Given the description of an element on the screen output the (x, y) to click on. 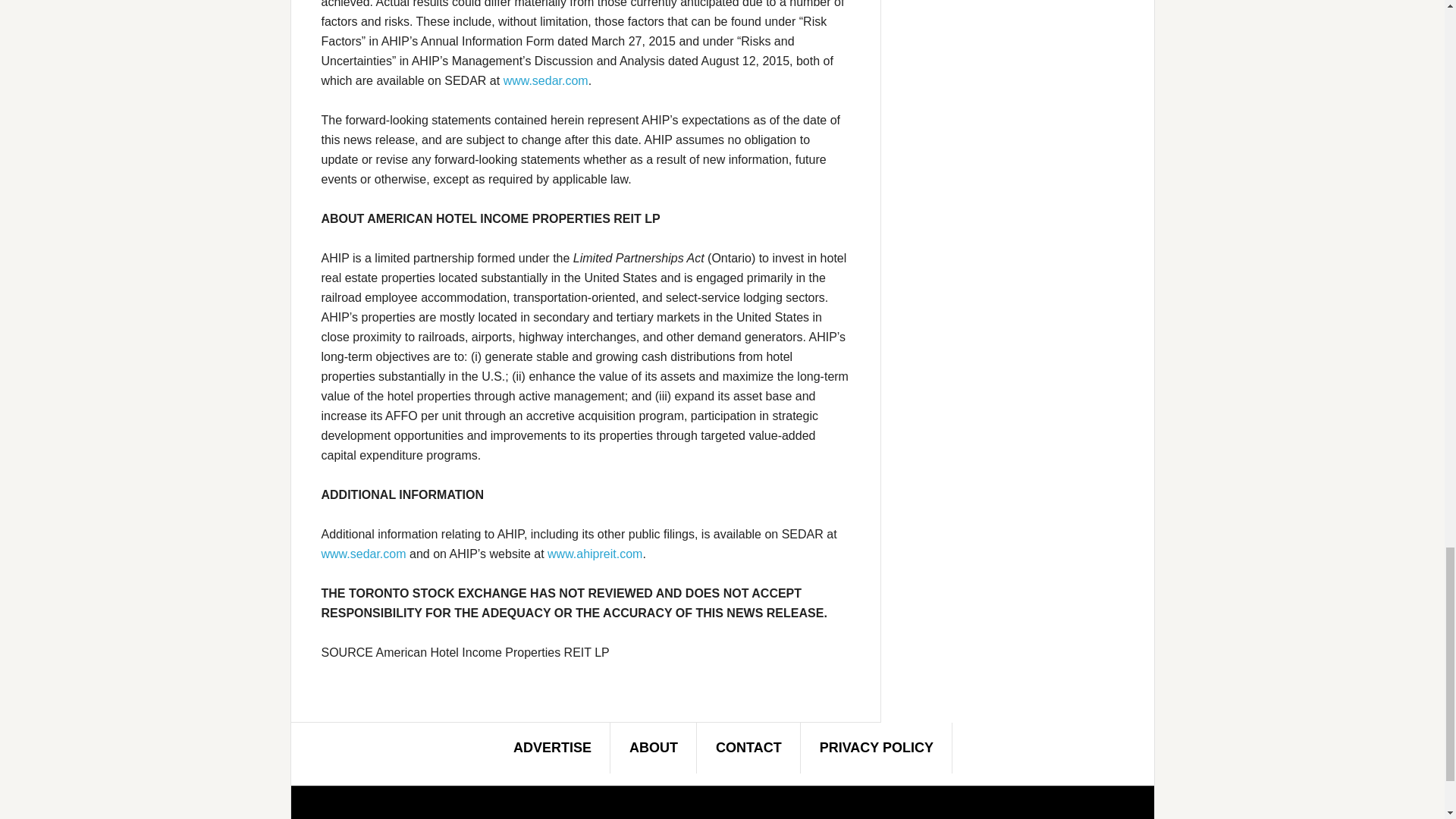
www.sedar.com (545, 80)
PRIVACY POLICY (877, 747)
www.ahipreit.com (594, 553)
CONTACT (748, 747)
ABOUT (654, 747)
www.sedar.com (363, 553)
ADVERTISE (552, 747)
